Given the description of an element on the screen output the (x, y) to click on. 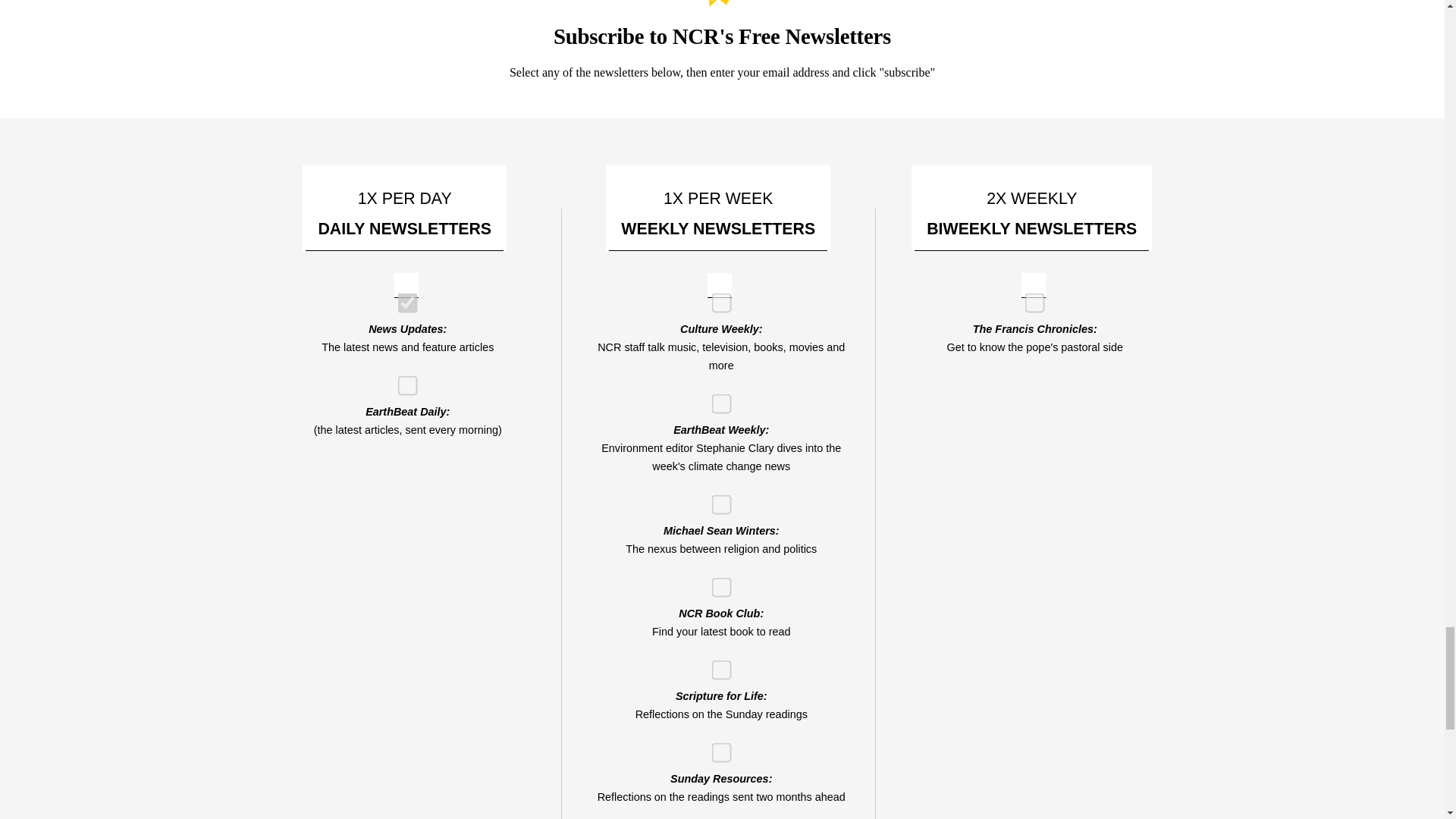
ef6500f2d3 (715, 398)
c25324053e (715, 664)
dfa4c56aff (715, 747)
3b77a4581e (715, 499)
13ede0f40e (715, 582)
efa1b974a2 (402, 379)
9b73e2ca65 (1030, 297)
f86221b965 (402, 297)
e536af3ae2 (715, 297)
